Given the description of an element on the screen output the (x, y) to click on. 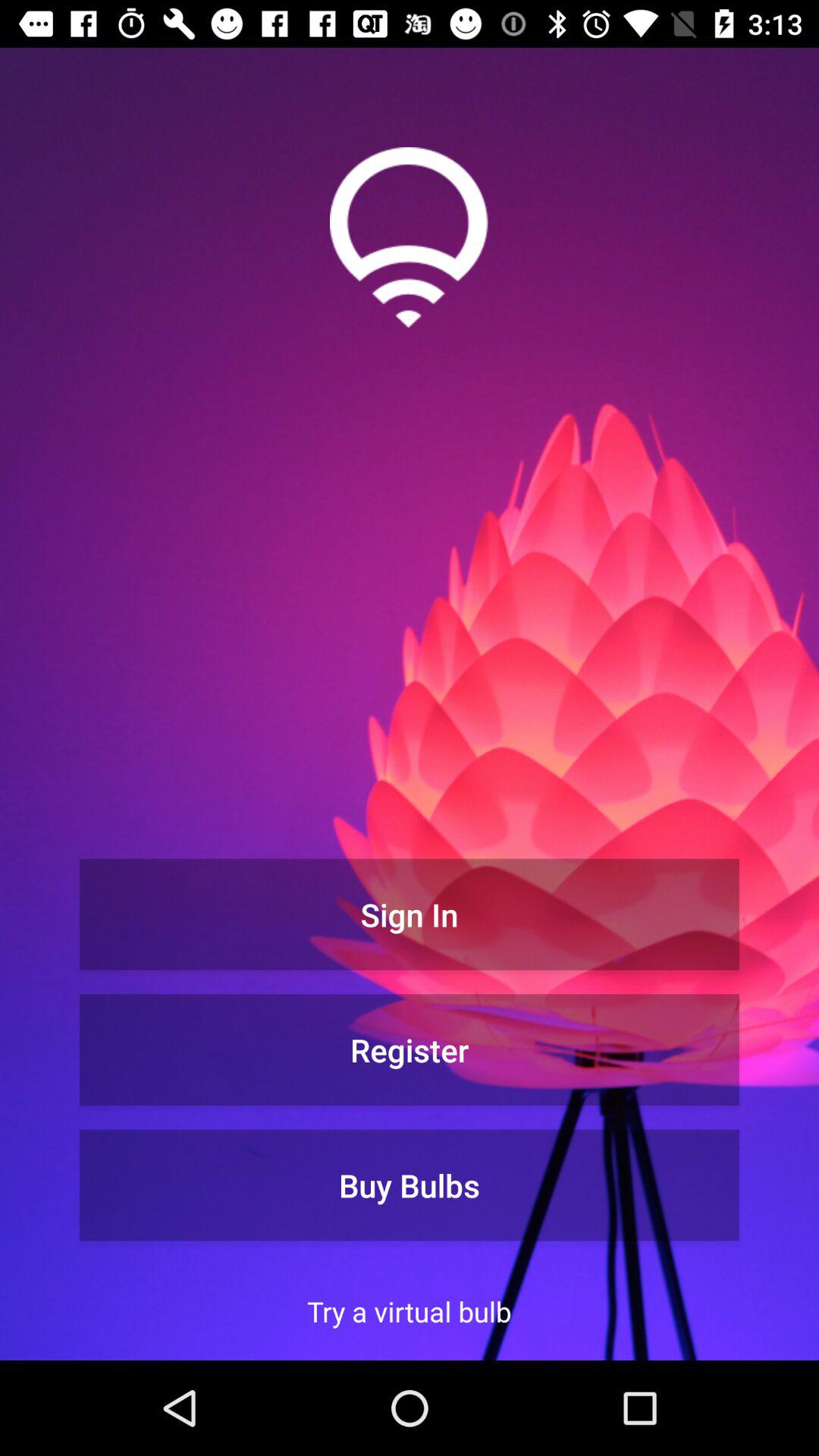
swipe to the try a virtual icon (409, 1311)
